Given the description of an element on the screen output the (x, y) to click on. 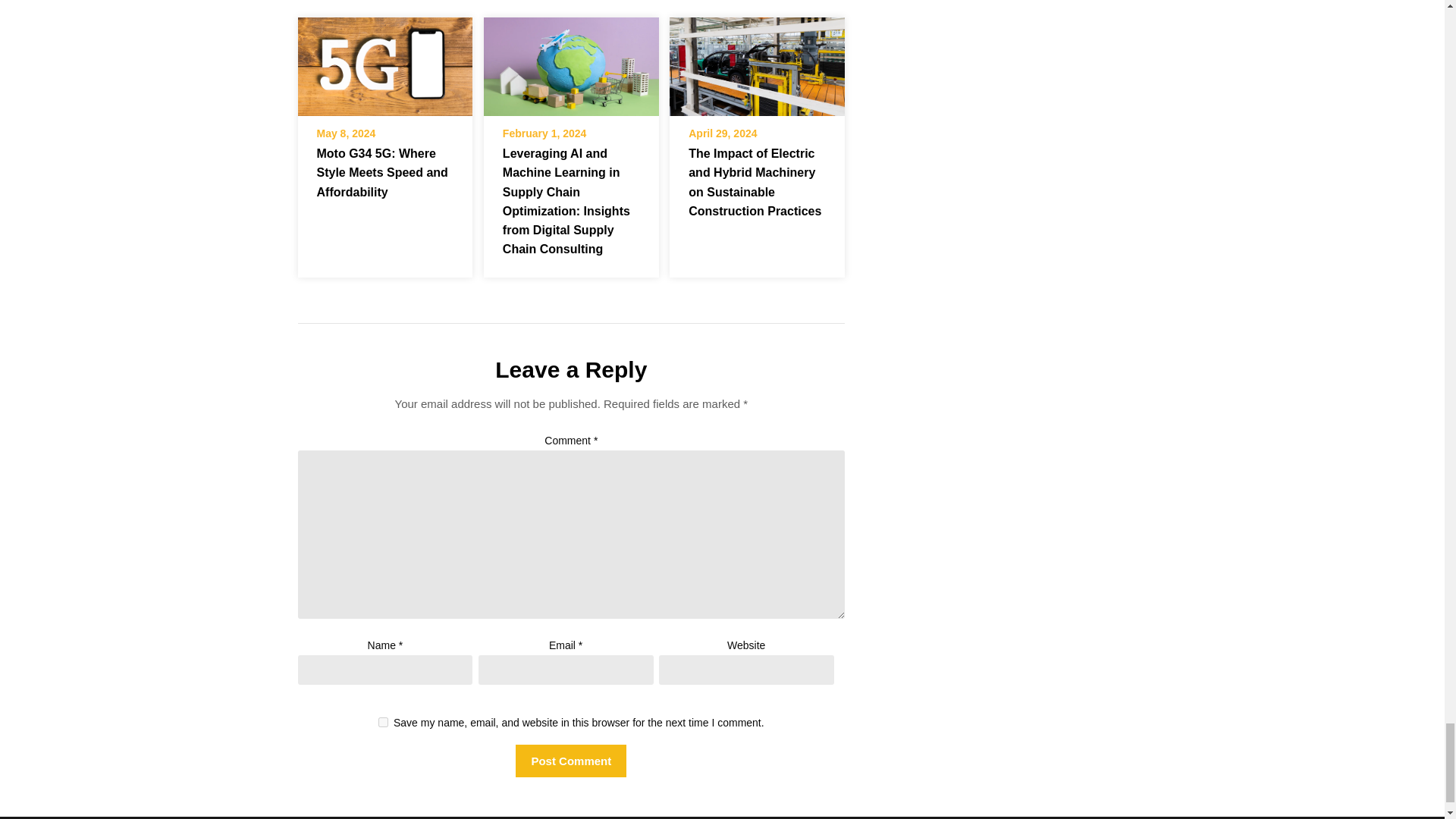
Moto G34 5G: Where Style Meets Speed and Affordability (382, 172)
Moto G34 5G: Where Style Meets Speed and Affordability (384, 66)
yes (383, 722)
Post Comment (570, 760)
Moto G34 5G: Where Style Meets Speed and Affordability (384, 61)
Post Comment (570, 760)
